Given the description of an element on the screen output the (x, y) to click on. 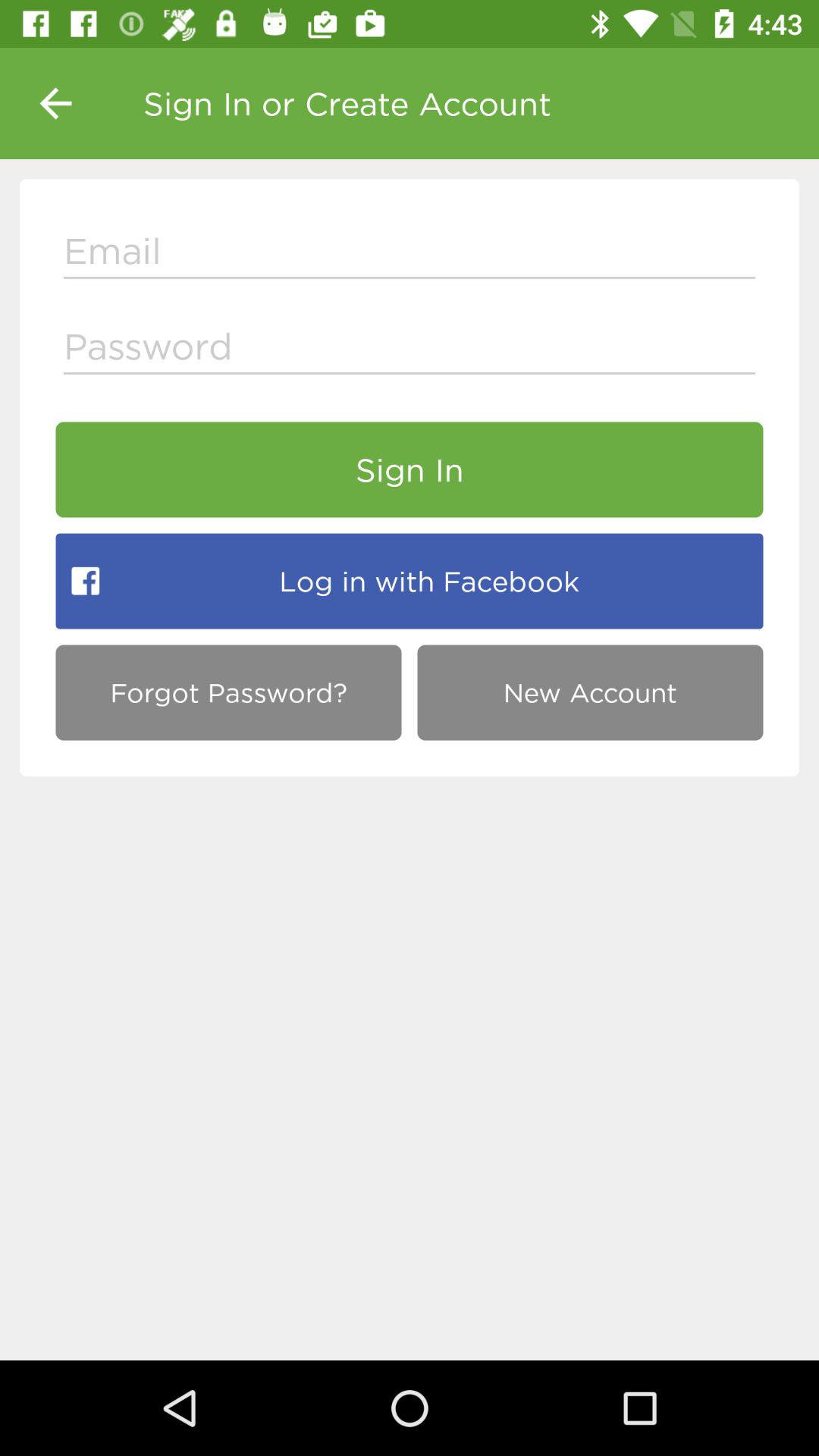
type the email id (409, 254)
